Given the description of an element on the screen output the (x, y) to click on. 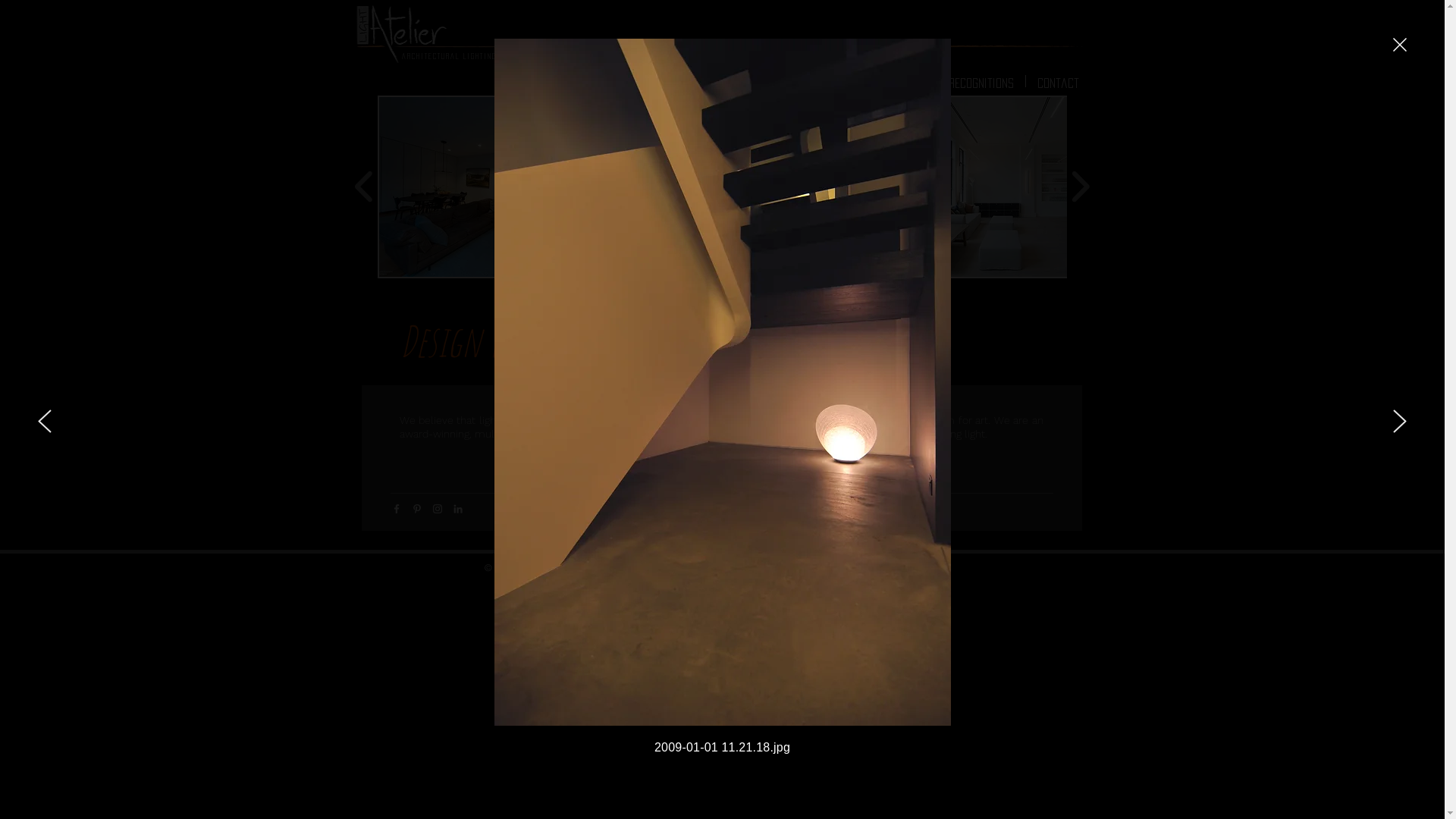
Wix.com Element type: text (686, 566)
Home Element type: text (713, 80)
Contact Element type: text (1057, 80)
Services Element type: text (770, 80)
Pin to Pinterest Element type: hover (657, 296)
Projects Element type: text (838, 80)
ARCHITECTURAL LIGHTING DESIGN Element type: text (464, 56)
Awards and Recognitions Element type: text (950, 80)
